Given the description of an element on the screen output the (x, y) to click on. 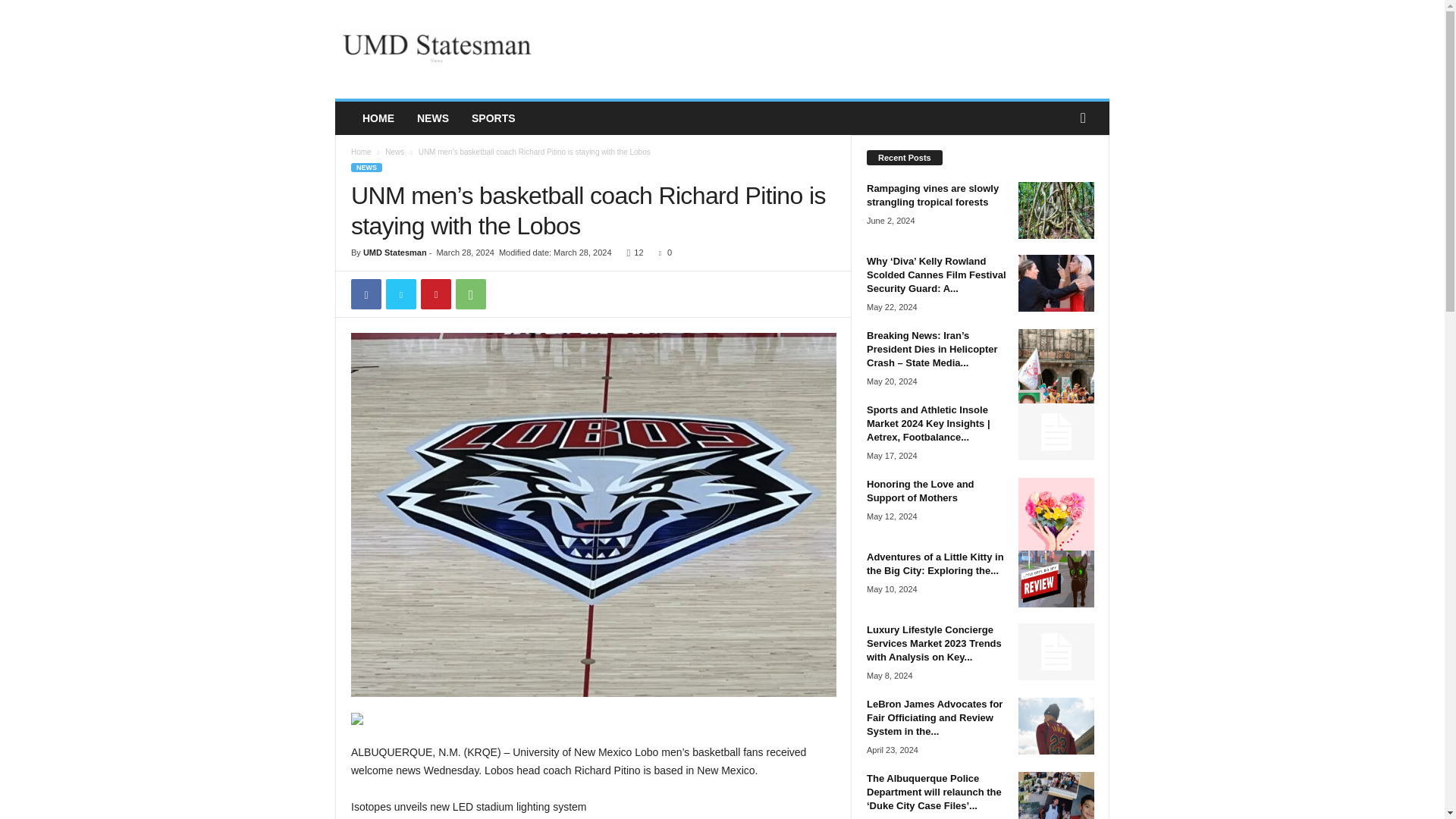
SPORTS (493, 118)
View all posts in News (394, 152)
HOME (378, 118)
UMD Statesman (394, 252)
WhatsApp (470, 294)
0 (661, 252)
Home (360, 152)
Facebook (365, 294)
UMD Statesman (437, 48)
NEWS (365, 166)
NEWS (433, 118)
Twitter (400, 294)
News (394, 152)
Pinterest (435, 294)
